Given the description of an element on the screen output the (x, y) to click on. 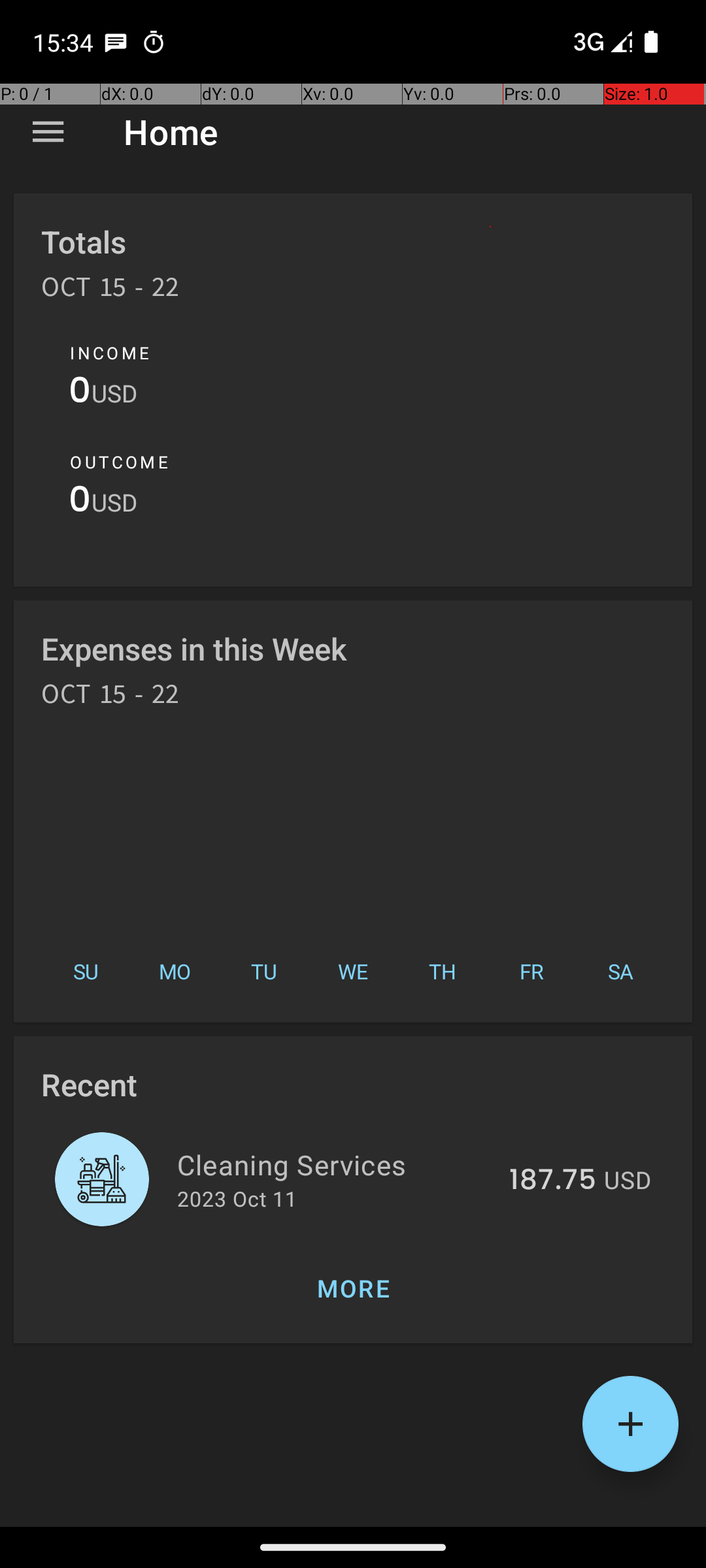
187.75 Element type: android.widget.TextView (552, 1180)
